Given the description of an element on the screen output the (x, y) to click on. 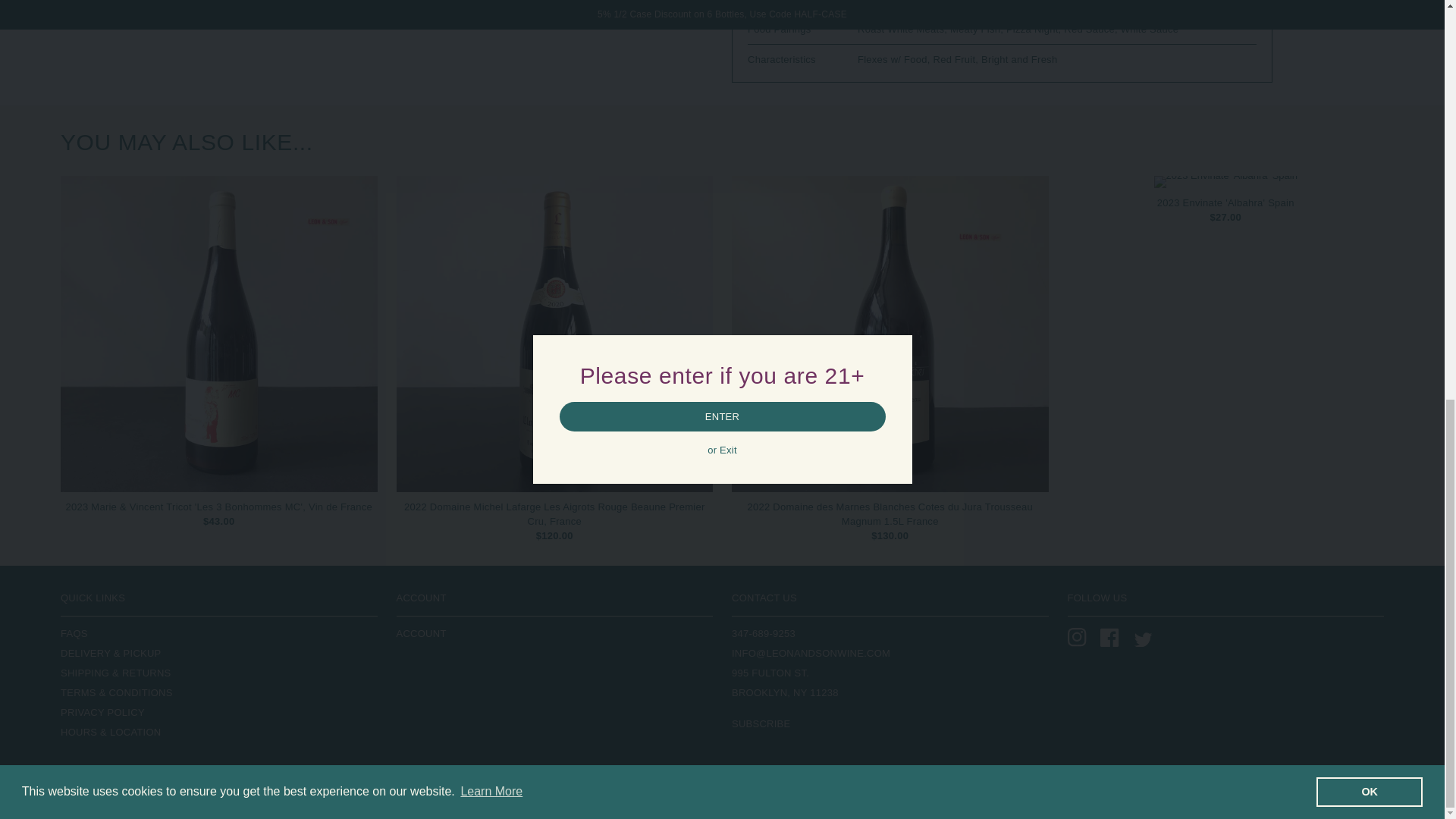
Privacy Policy (102, 712)
Learn More (491, 11)
Subscribe to Our Emails (761, 723)
Delivery (111, 653)
OK (1369, 13)
FAQ (74, 633)
